Given the description of an element on the screen output the (x, y) to click on. 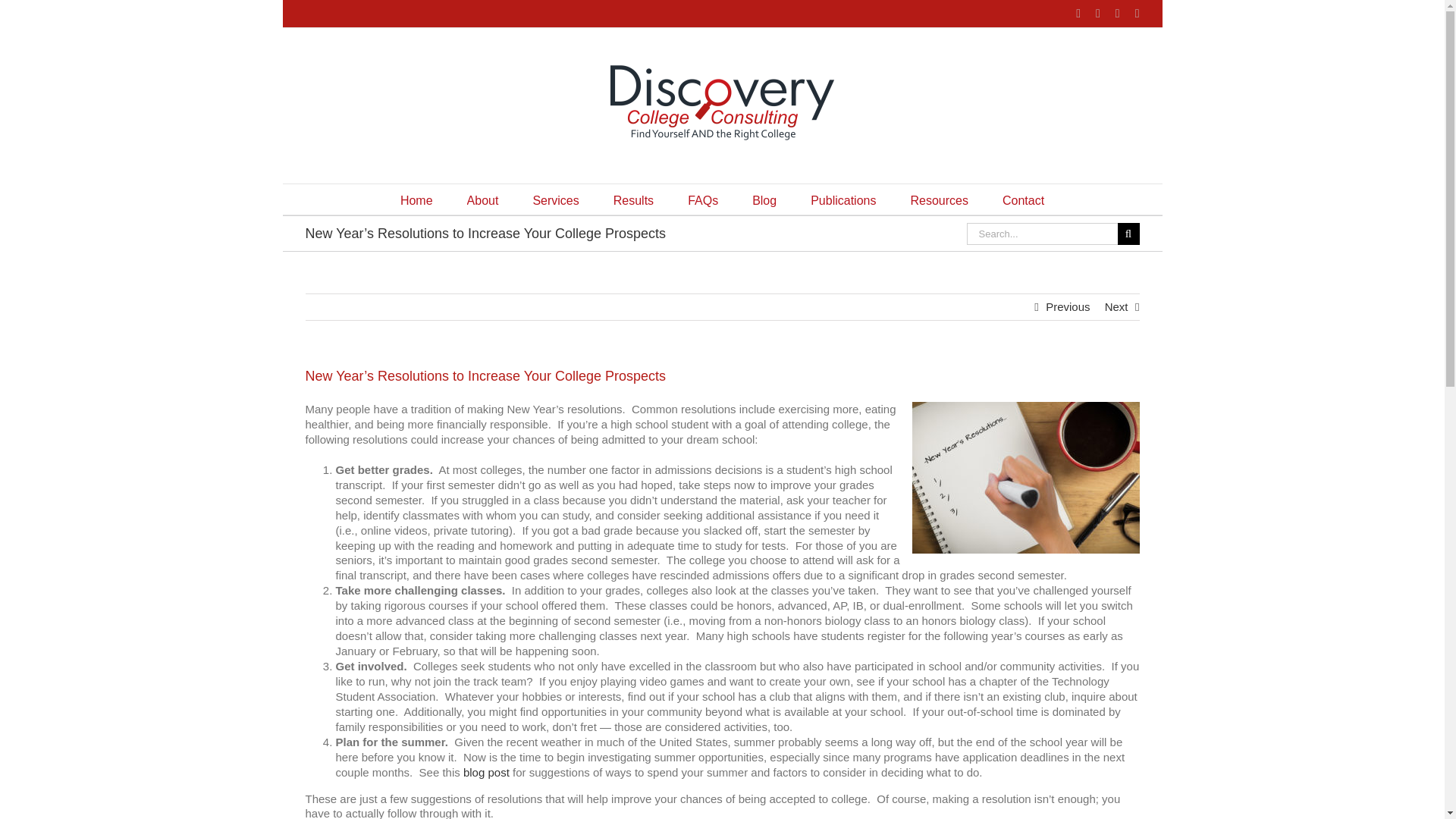
Contact (1023, 199)
Services (555, 199)
blog post (486, 771)
Instagram (1098, 13)
Email (1137, 13)
Instagram (1098, 13)
FAQs (702, 199)
LinkedIn (1117, 13)
Results (632, 199)
Publications (843, 199)
Next (1116, 307)
Email (1137, 13)
Previous (1067, 307)
Home (416, 199)
About (483, 199)
